Given the description of an element on the screen output the (x, y) to click on. 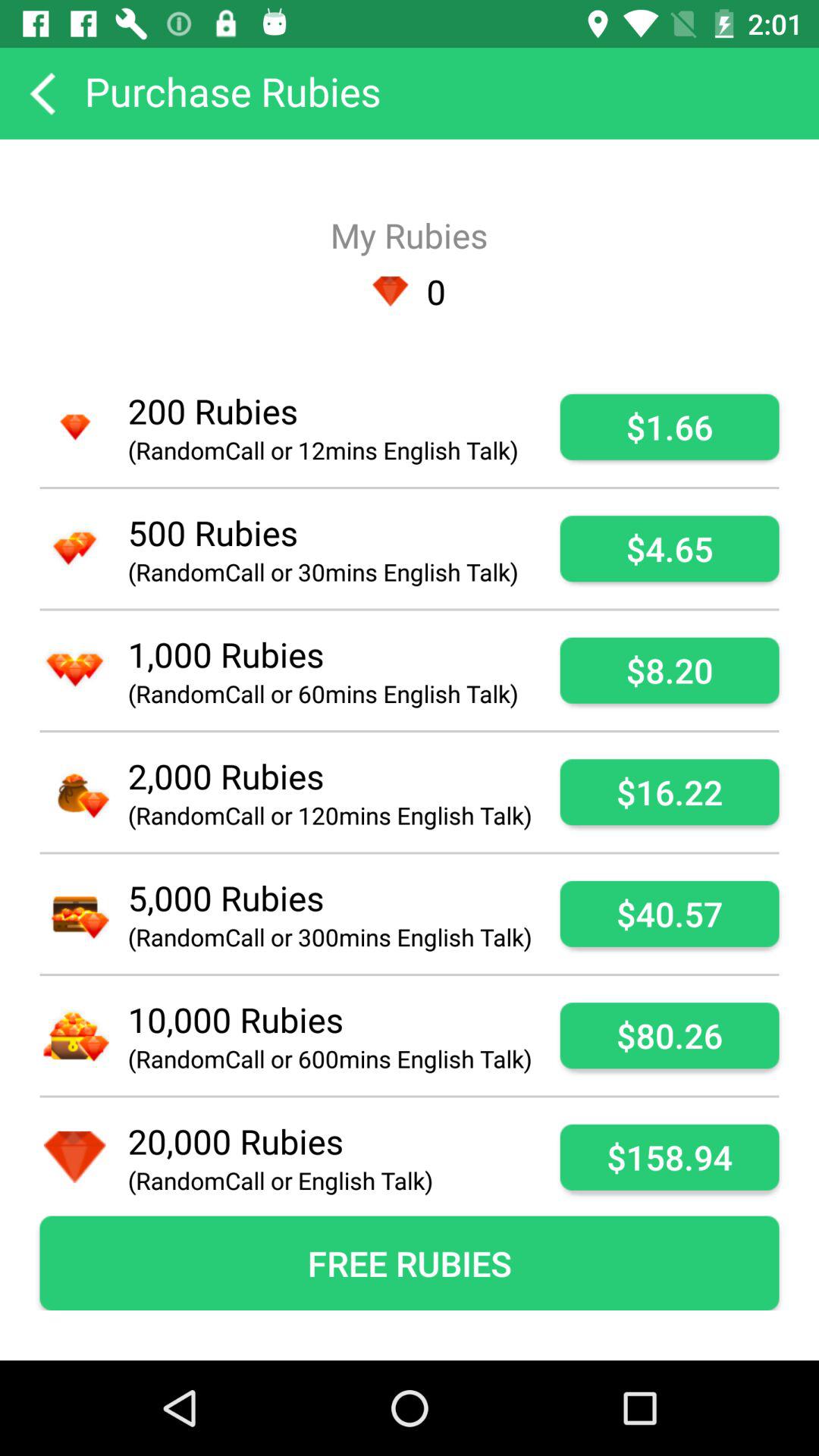
turn off the app next to the purchase rubies (42, 93)
